Given the description of an element on the screen output the (x, y) to click on. 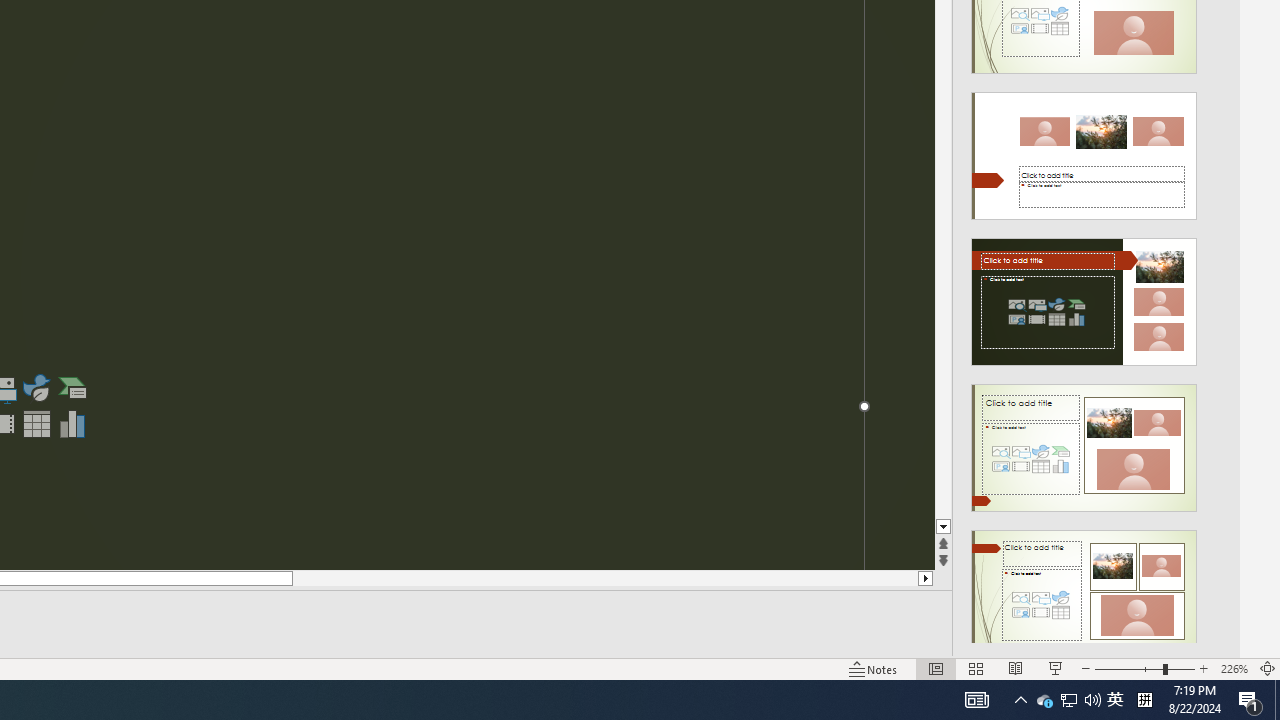
Zoom 226% (1234, 668)
